Given the description of an element on the screen output the (x, y) to click on. 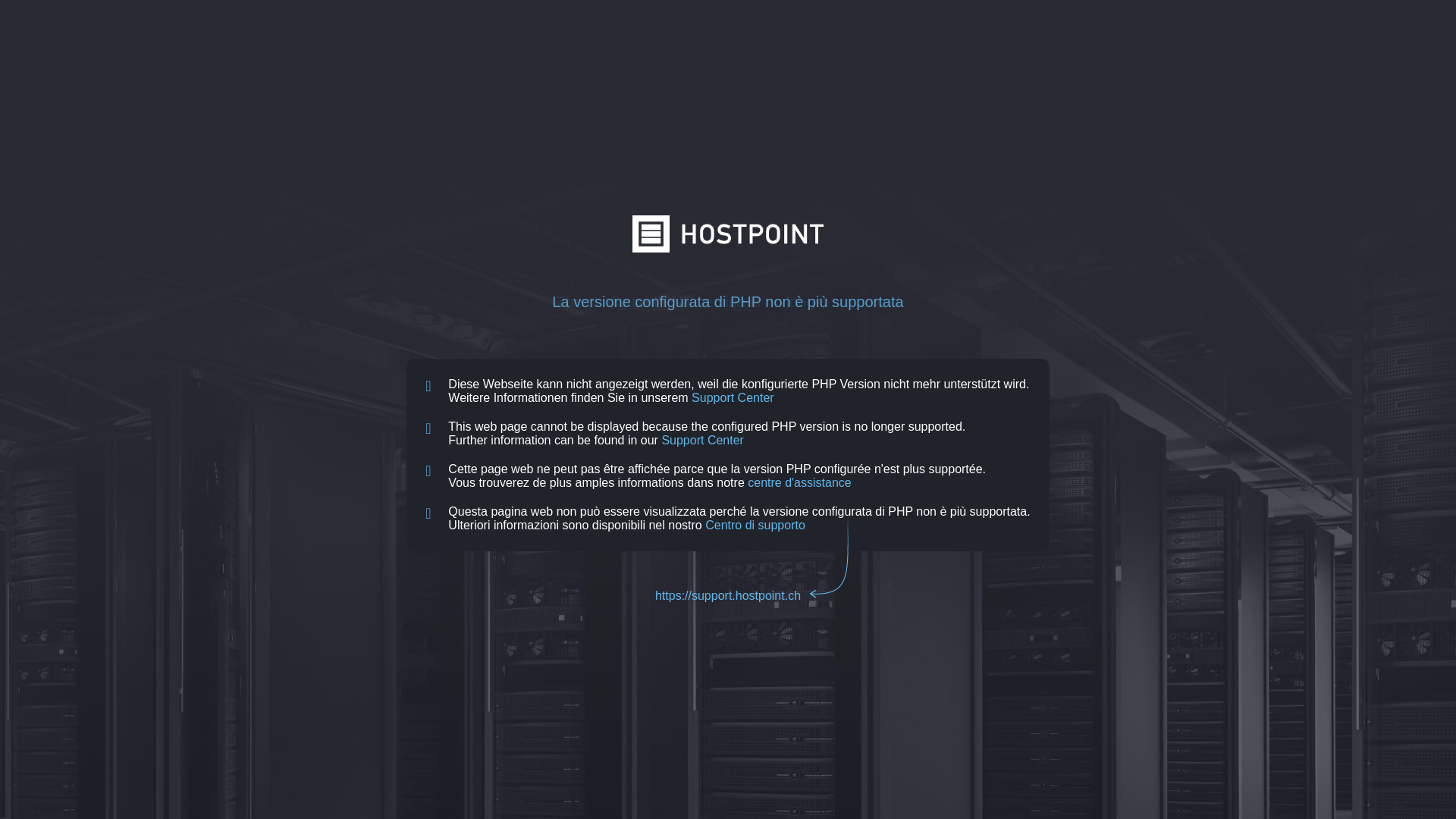
Centro di supporto Element type: text (755, 524)
Support Center Element type: text (732, 397)
https://support.hostpoint.ch Element type: text (727, 595)
centre d'assistance Element type: text (798, 482)
Support Center Element type: text (702, 439)
